Given the description of an element on the screen output the (x, y) to click on. 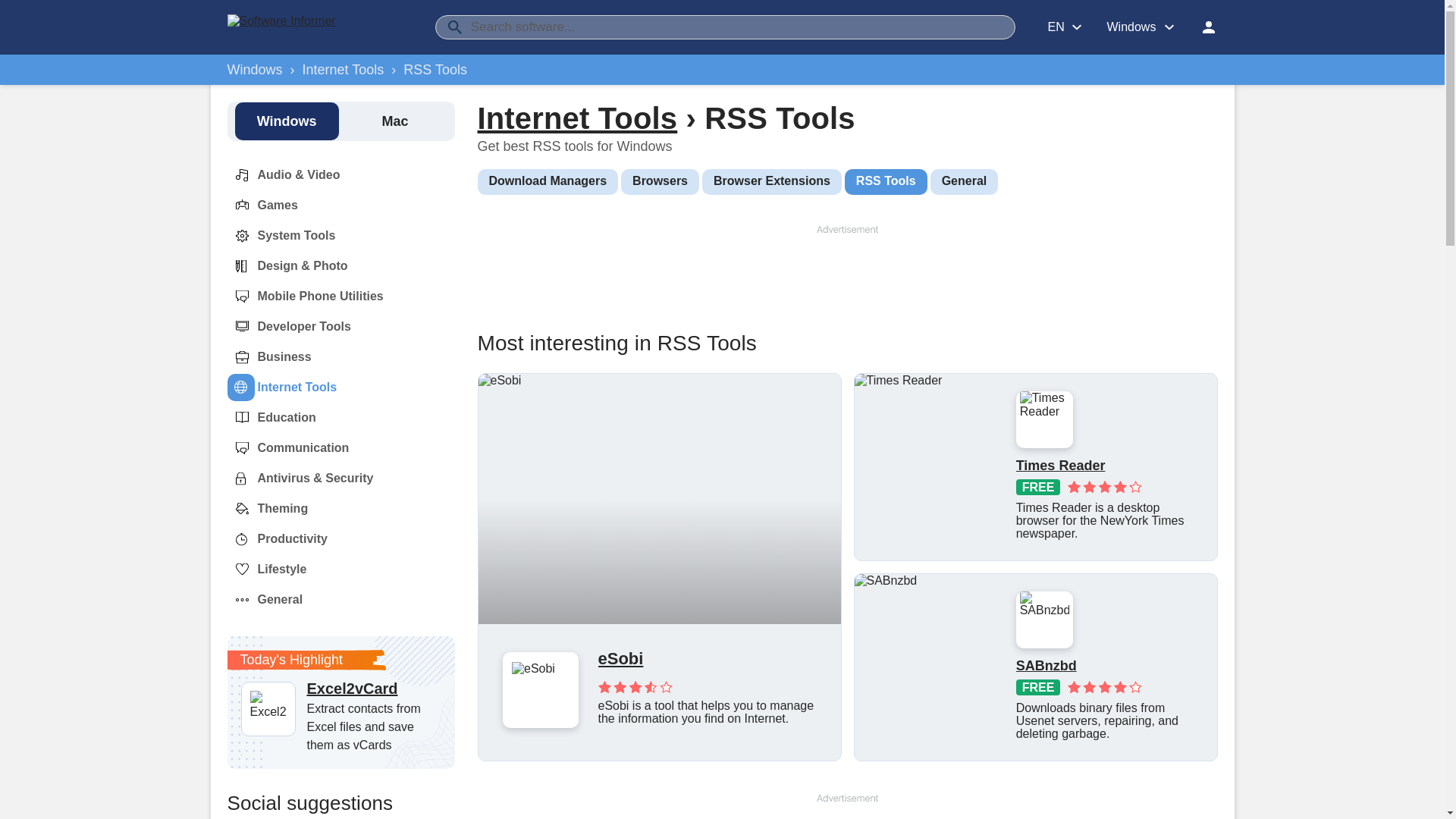
Games (262, 205)
Mac (394, 121)
Search (454, 27)
Windows (254, 69)
Internet Tools (343, 69)
System Tools (281, 235)
